Given the description of an element on the screen output the (x, y) to click on. 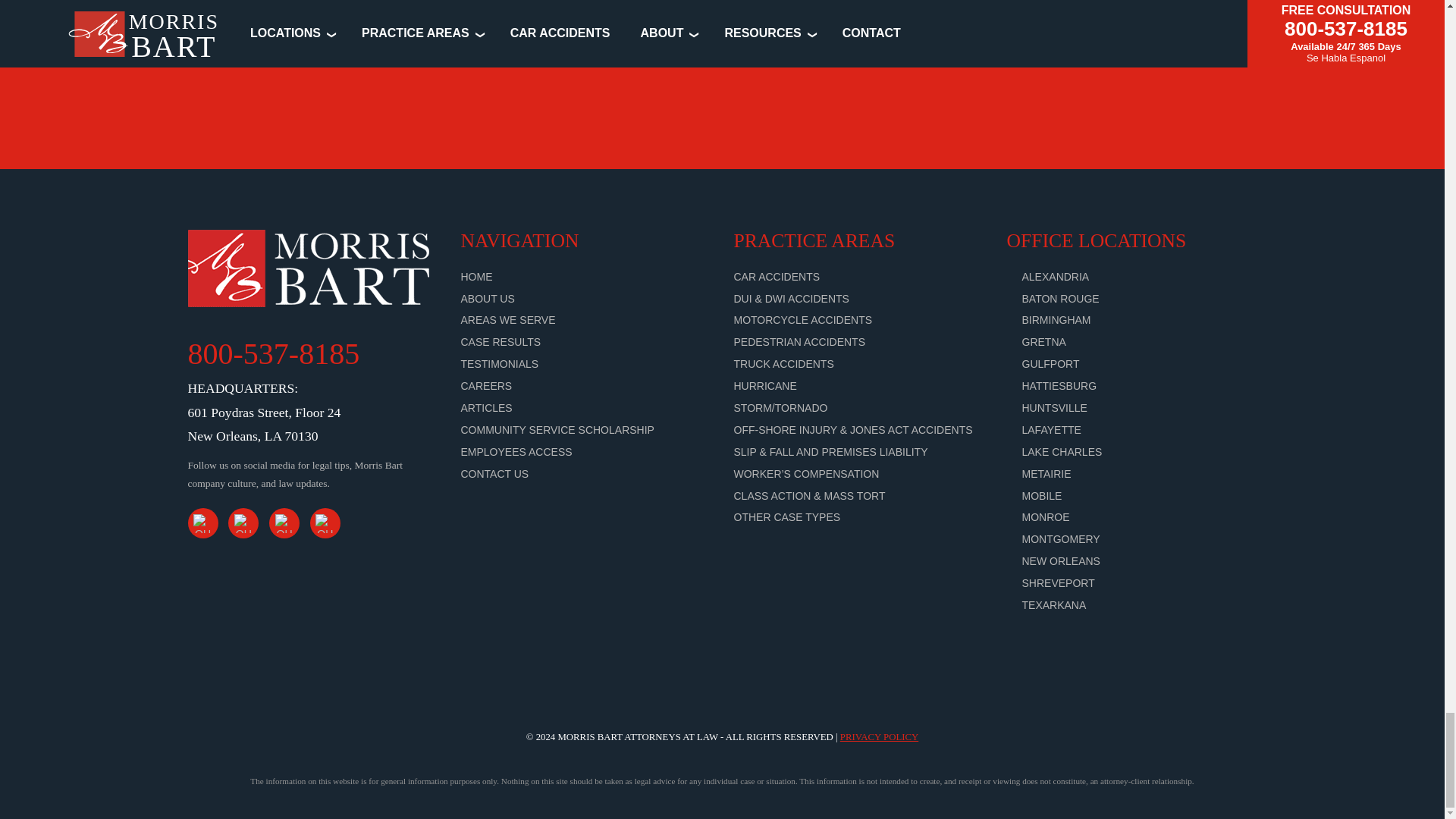
Careers (486, 386)
Case results (501, 341)
Testimonials (499, 363)
Articles (486, 408)
Employees Access (516, 451)
New Orleans Car Accidents (777, 276)
Community Service Scholarship (557, 429)
About us (488, 298)
Contact Us (495, 473)
Areas We Serve (508, 319)
